Given the description of an element on the screen output the (x, y) to click on. 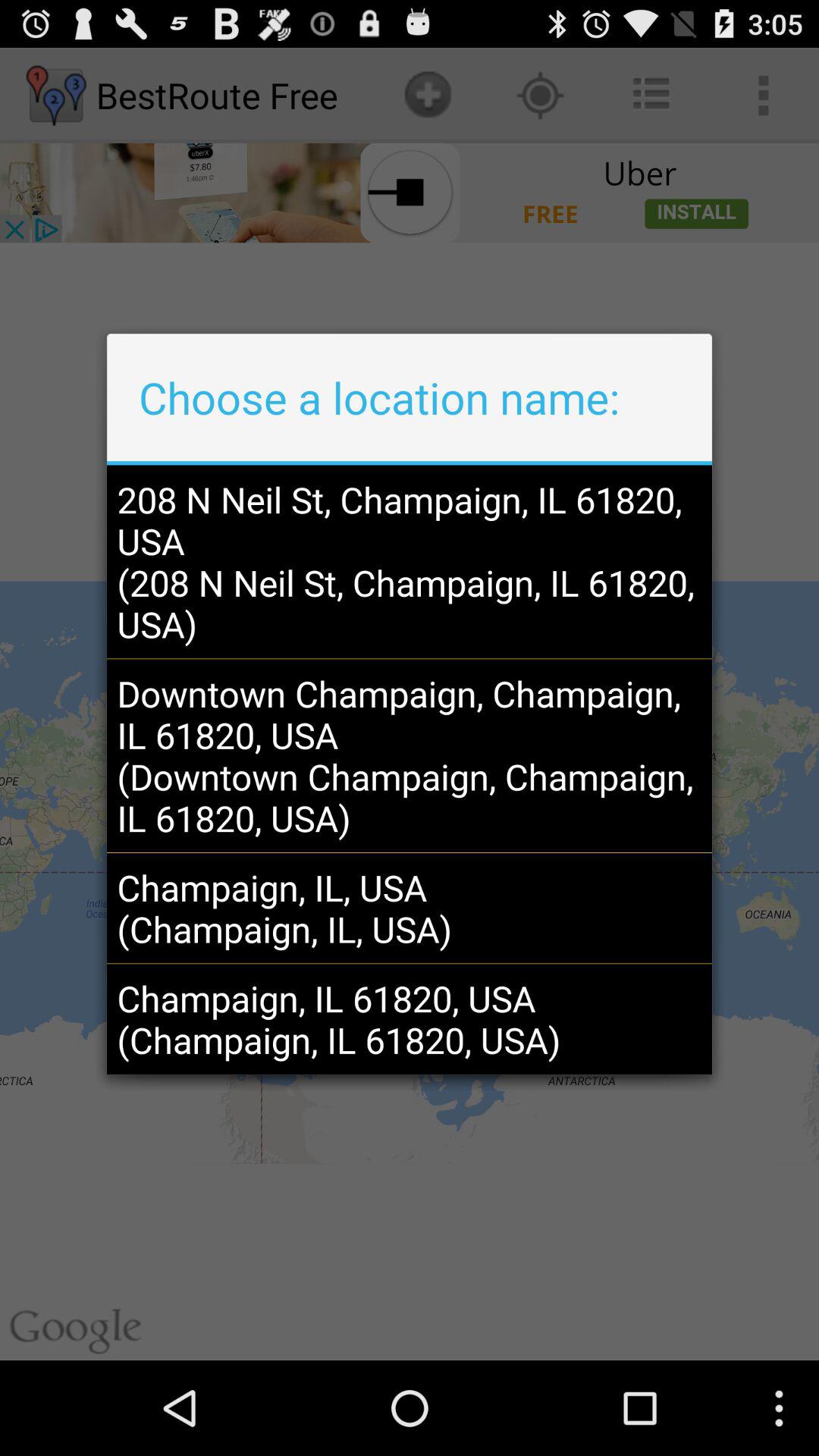
select item above downtown champaign champaign (409, 561)
